Given the description of an element on the screen output the (x, y) to click on. 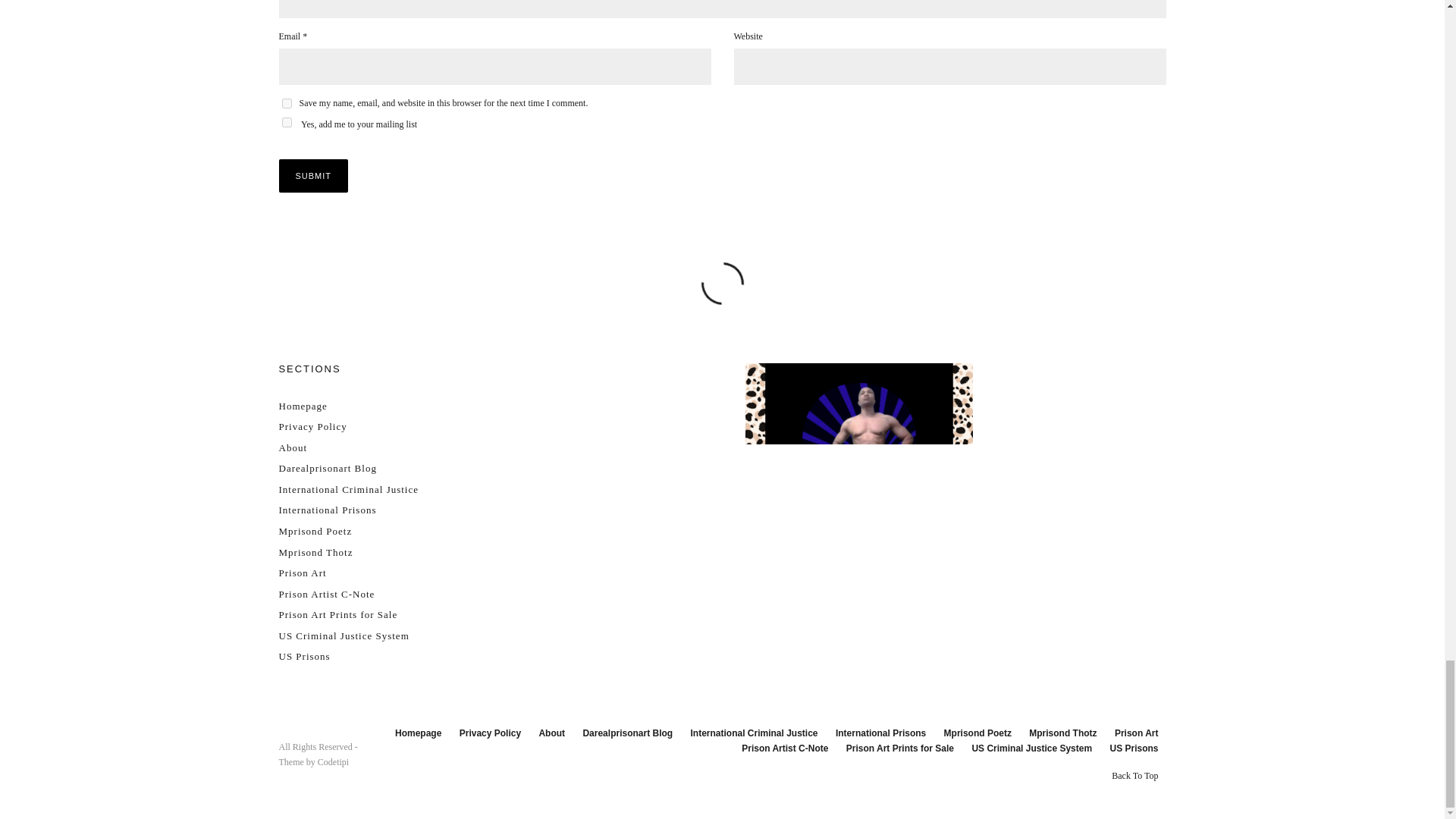
Submit (314, 175)
yes (287, 103)
1 (287, 122)
